Given the description of an element on the screen output the (x, y) to click on. 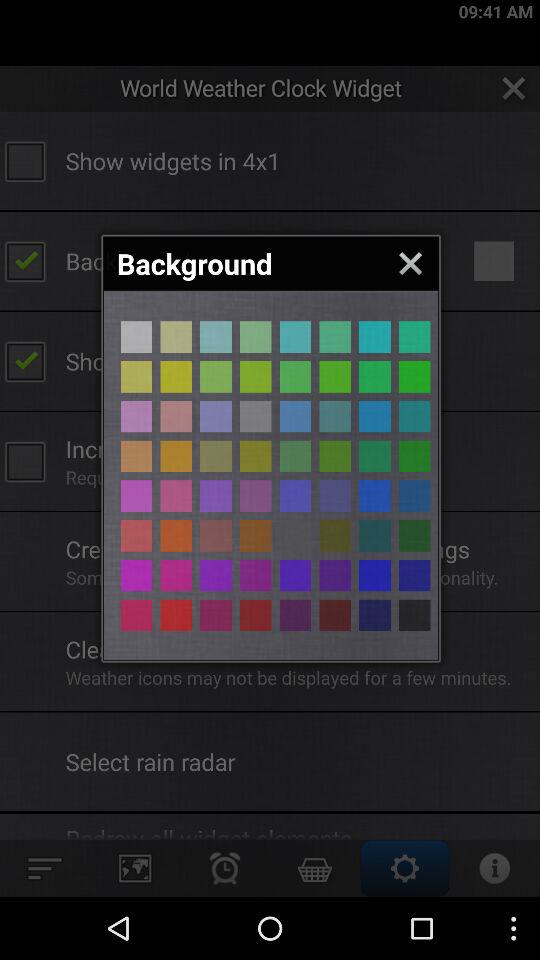
select option (335, 575)
